Given the description of an element on the screen output the (x, y) to click on. 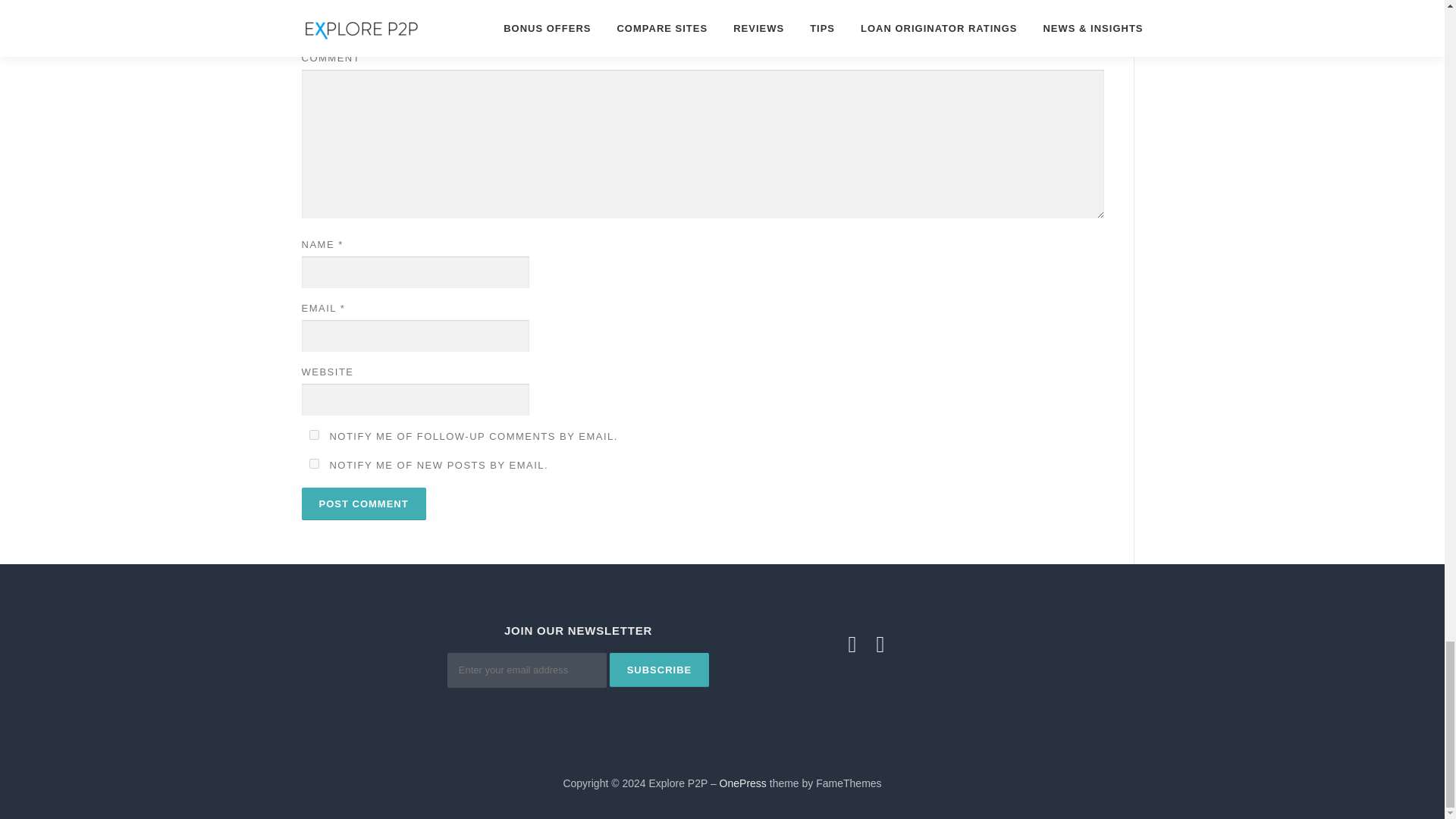
Post Comment (363, 503)
subscribe (313, 434)
subscribe (313, 463)
Back To Top (1372, 740)
Subscribe (660, 669)
